Given the description of an element on the screen output the (x, y) to click on. 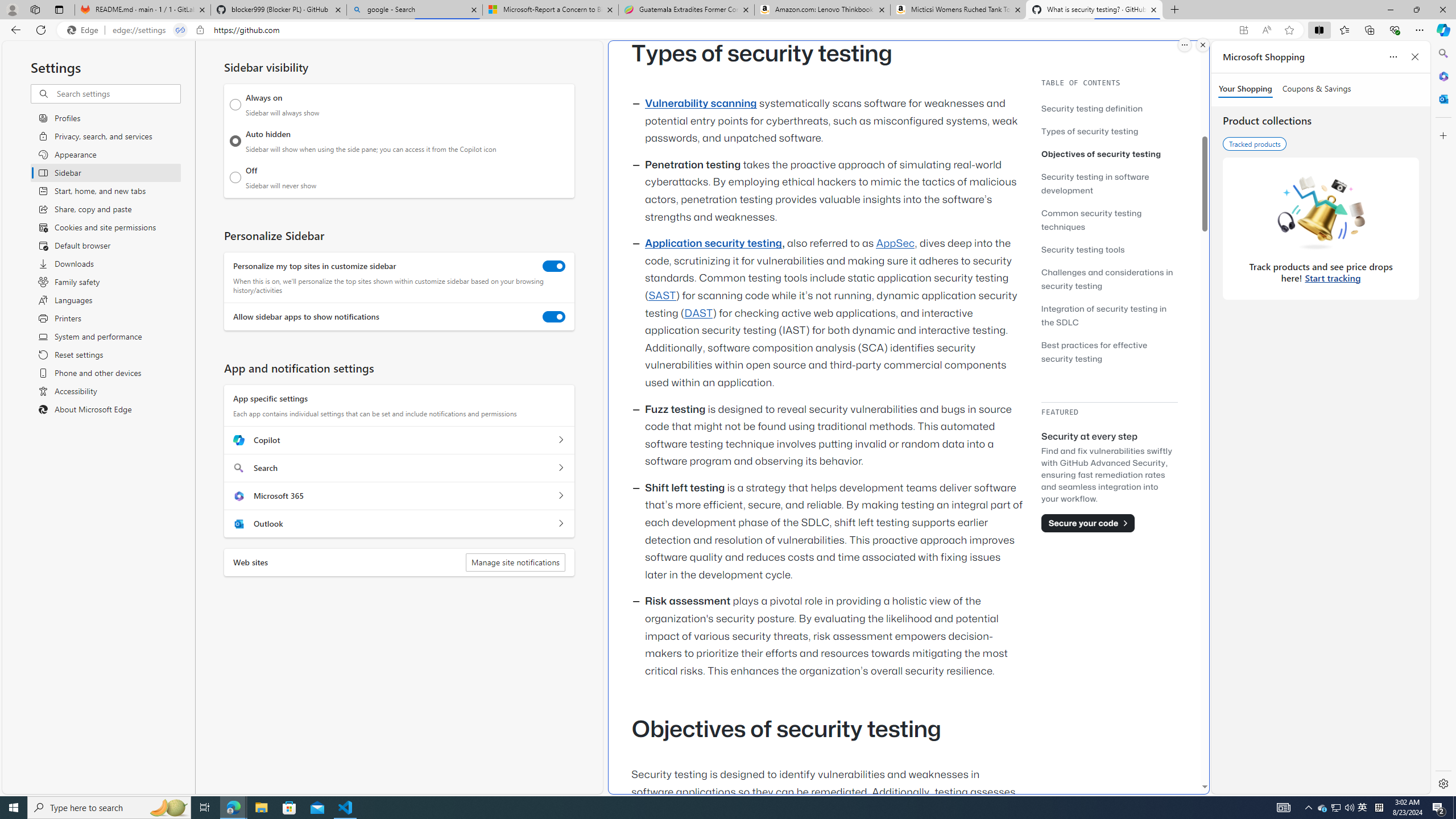
AppSec (895, 243)
Customize (1442, 135)
